Given the description of an element on the screen output the (x, y) to click on. 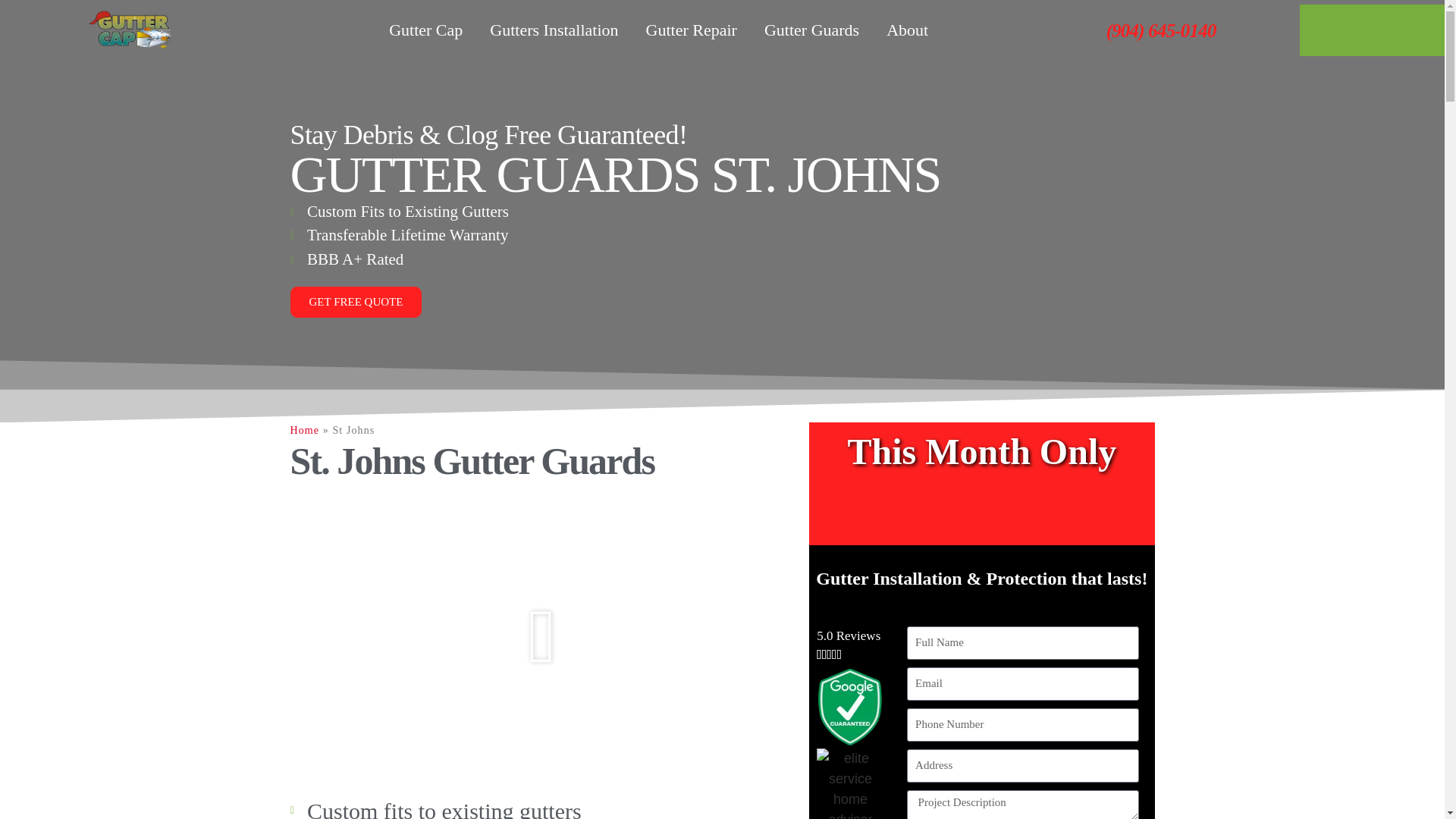
Gutter Guards (811, 30)
Gutters Installation (553, 30)
About (907, 30)
elite service home advisor gutter cap of florida (849, 783)
Gutter Repair (691, 30)
Gutter Cap (425, 30)
